Given the description of an element on the screen output the (x, y) to click on. 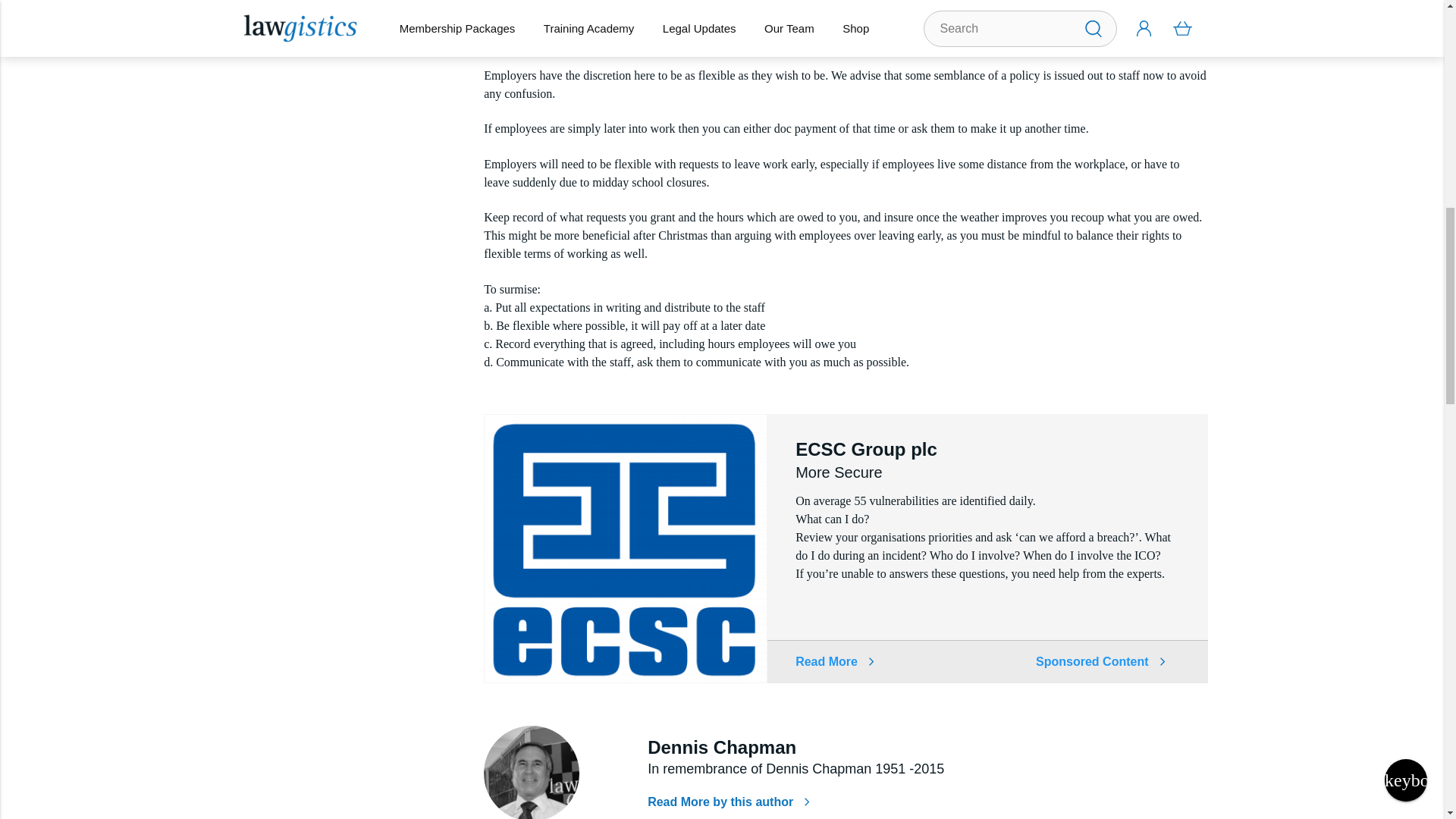
Sponsored Content (1099, 661)
Read More (833, 661)
Read More by this author (728, 801)
Dennis Chapman (531, 772)
